Given the description of an element on the screen output the (x, y) to click on. 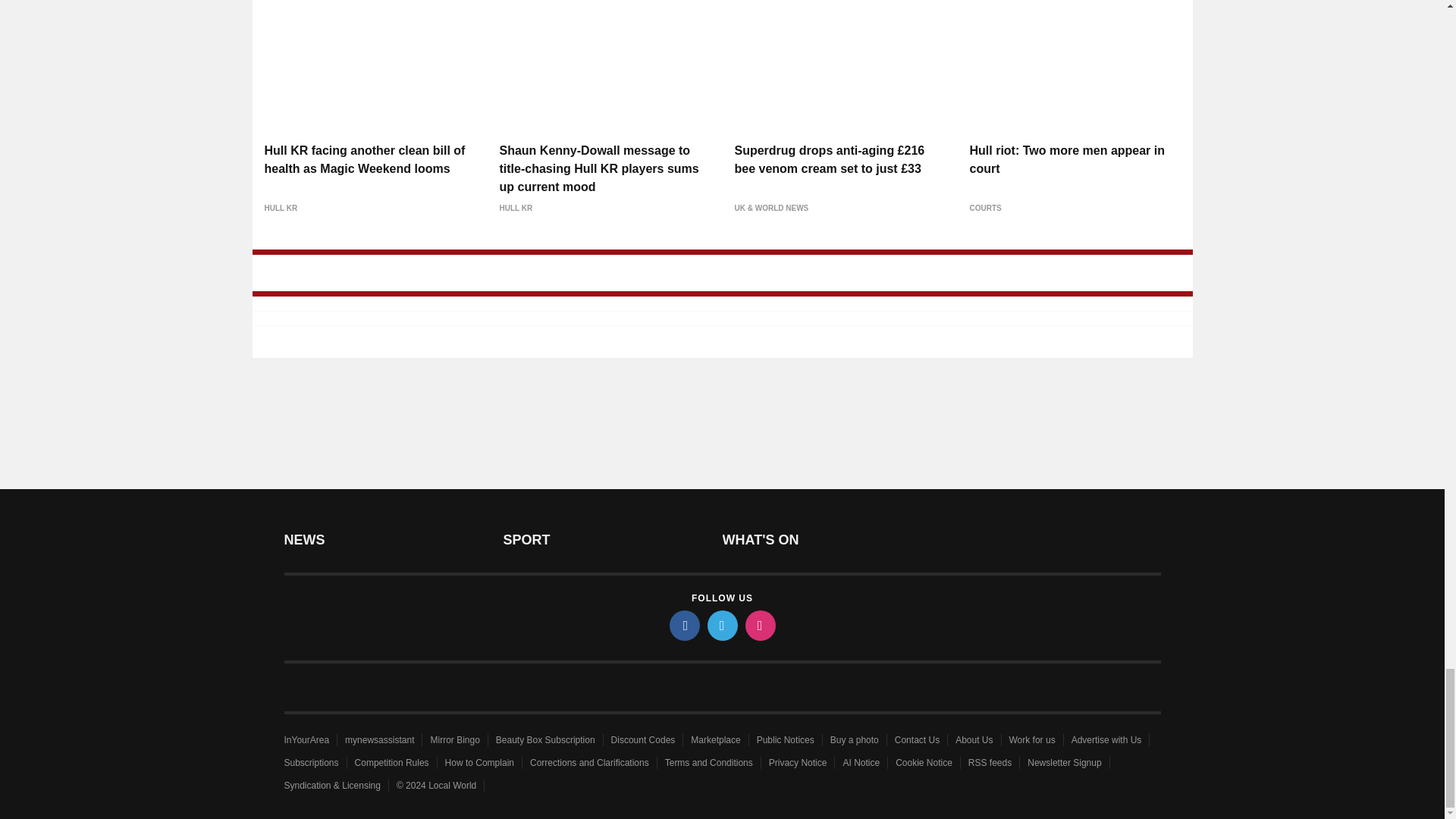
instagram (759, 625)
twitter (721, 625)
facebook (683, 625)
